Given the description of an element on the screen output the (x, y) to click on. 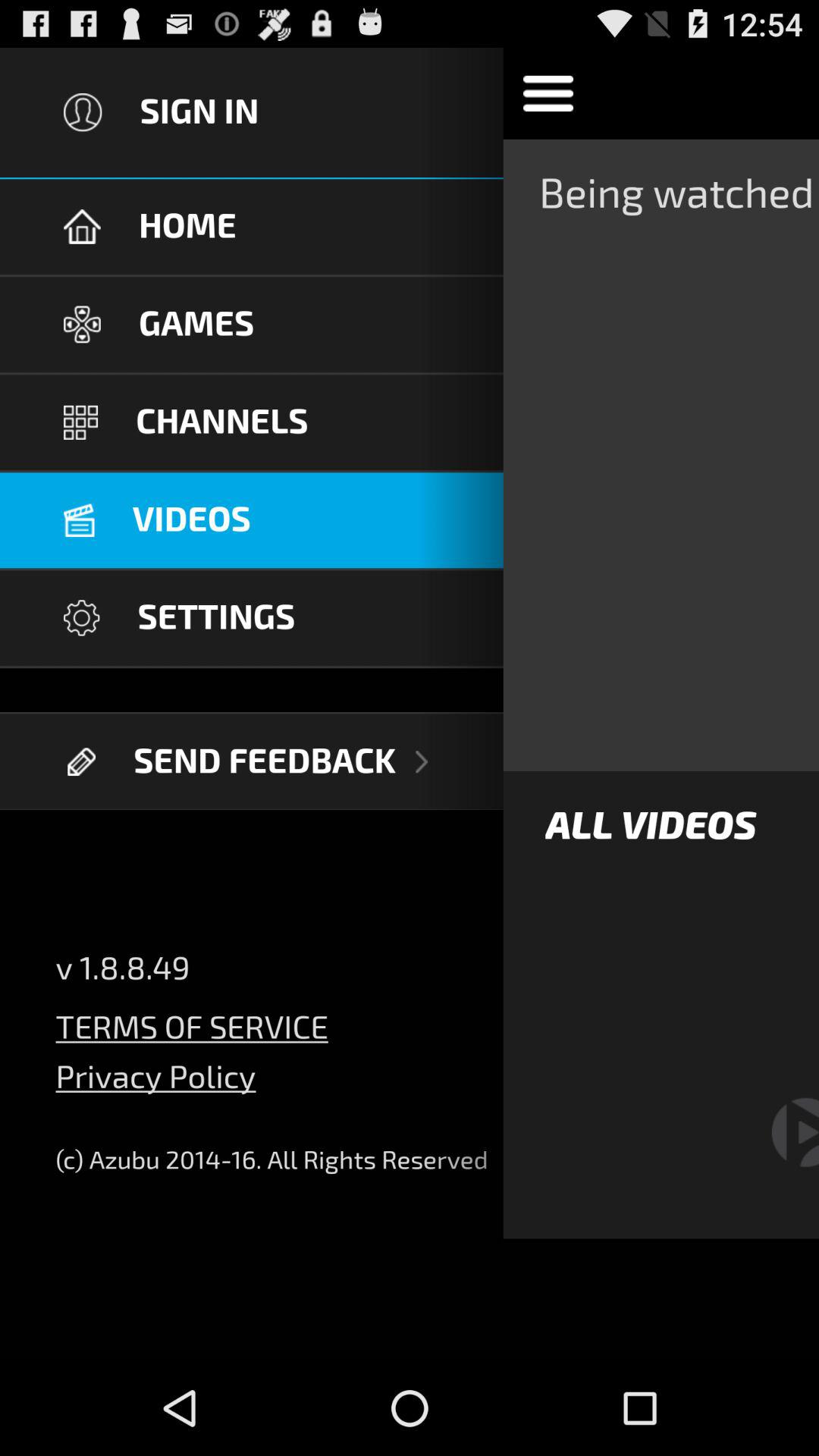
launch icon above the privacy policy icon (191, 1017)
